Given the description of an element on the screen output the (x, y) to click on. 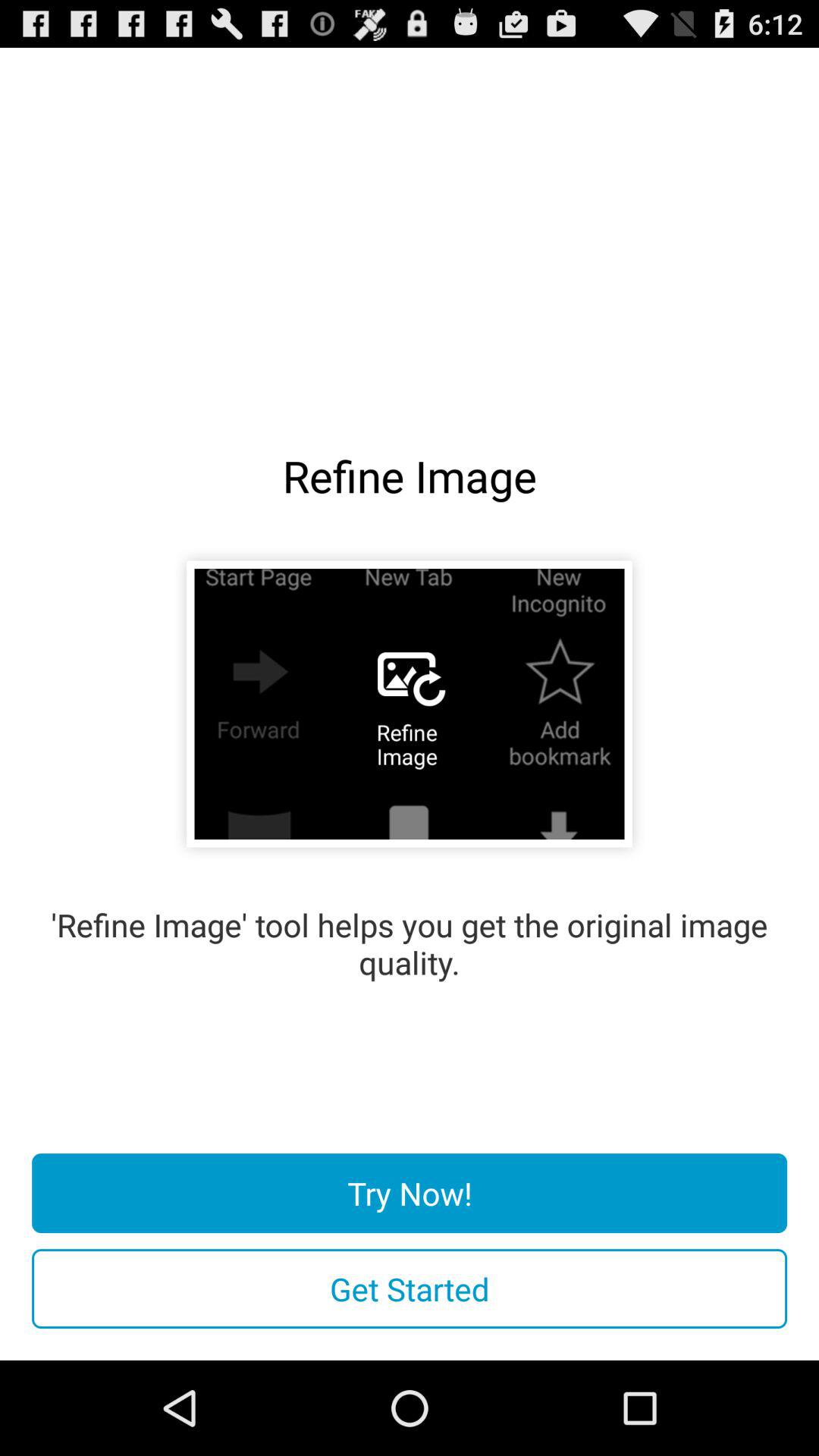
select the try now! icon (409, 1193)
